Given the description of an element on the screen output the (x, y) to click on. 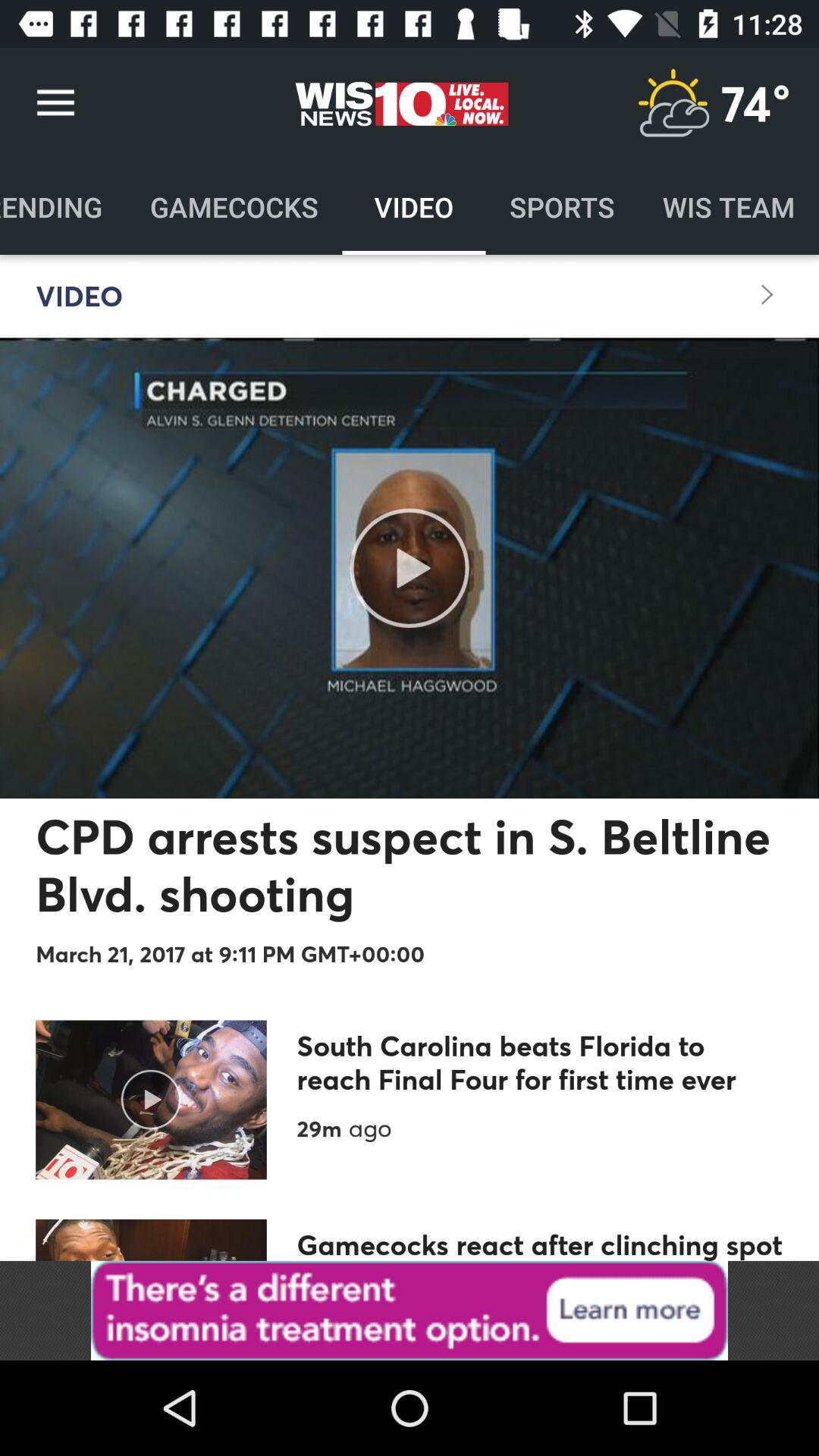
open advertisement (409, 1310)
